Given the description of an element on the screen output the (x, y) to click on. 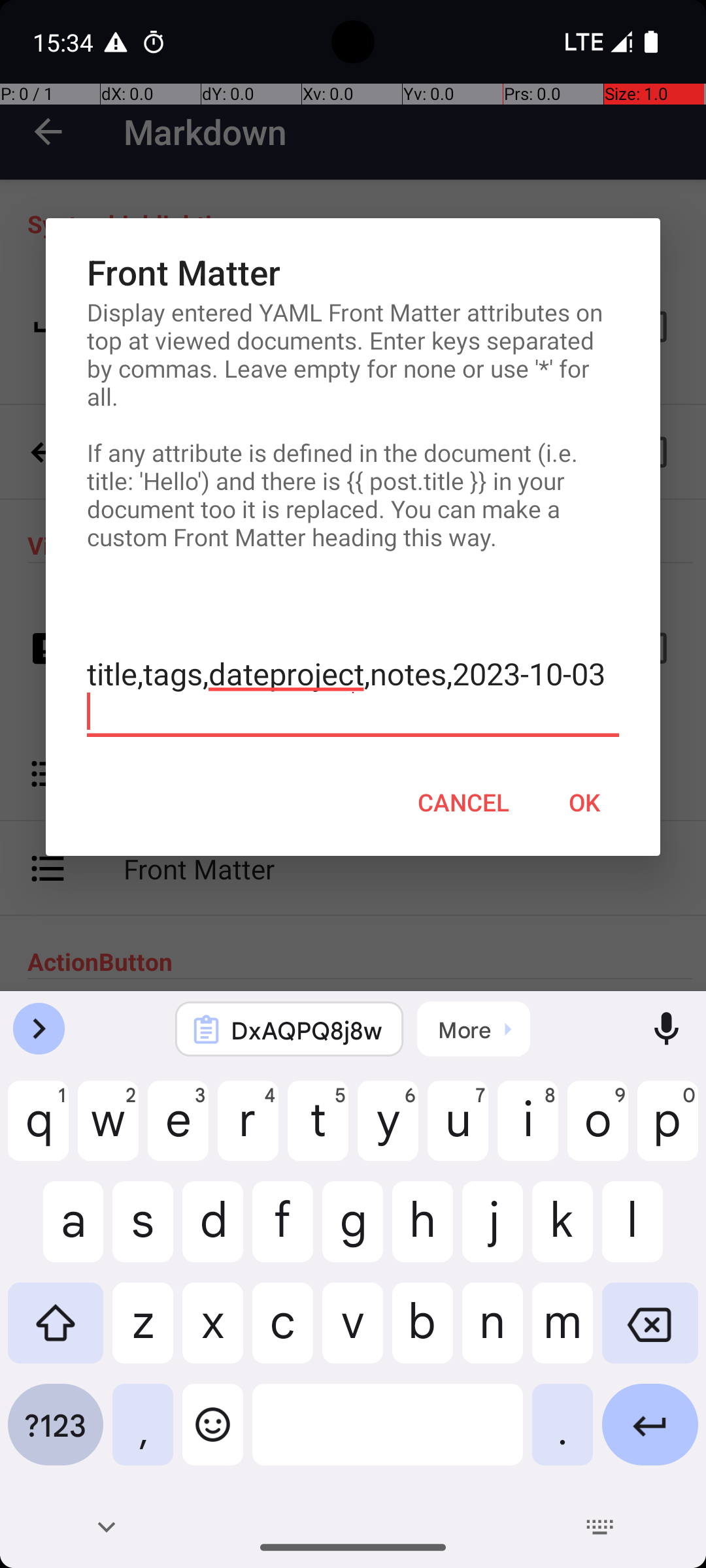
Front Matter Element type: android.widget.TextView (352, 271)
Display entered YAML Front Matter attributes on top at viewed documents. Enter keys separated by commas. Leave empty for none or use '*' for all. 

If any attribute is defined in the document (i.e. title: 'Hello') and there is {{ post.title }} in your document too it is replaced. You can make a custom Front Matter heading this way. Element type: android.widget.TextView (352, 424)
title,tags,dateproject,notes,2023-10-03
 Element type: android.widget.EditText (352, 691)
DxAQPQ8j8w Element type: android.widget.TextView (306, 1029)
